Given the description of an element on the screen output the (x, y) to click on. 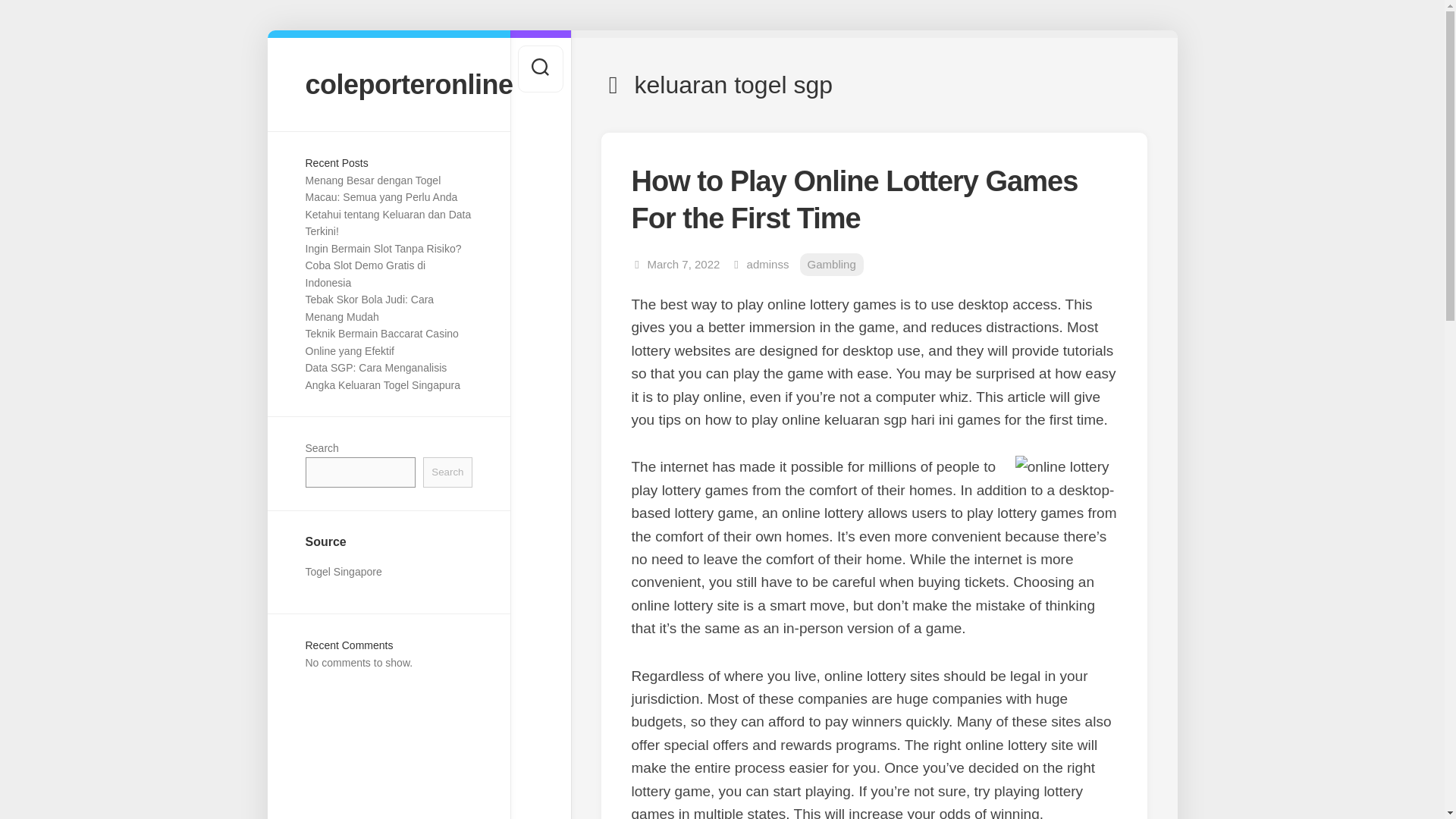
Posts by adminss (767, 264)
Teknik Bermain Baccarat Casino Online yang Efektif (381, 342)
Tebak Skor Bola Judi: Cara Menang Mudah (368, 307)
Search (447, 472)
coleporteronline (387, 83)
Togel Singapore (342, 571)
Data SGP: Cara Menganalisis Angka Keluaran Togel Singapura (382, 376)
adminss (767, 264)
How to Play Online Lottery Games For the First Time (853, 199)
Gambling (831, 264)
